Given the description of an element on the screen output the (x, y) to click on. 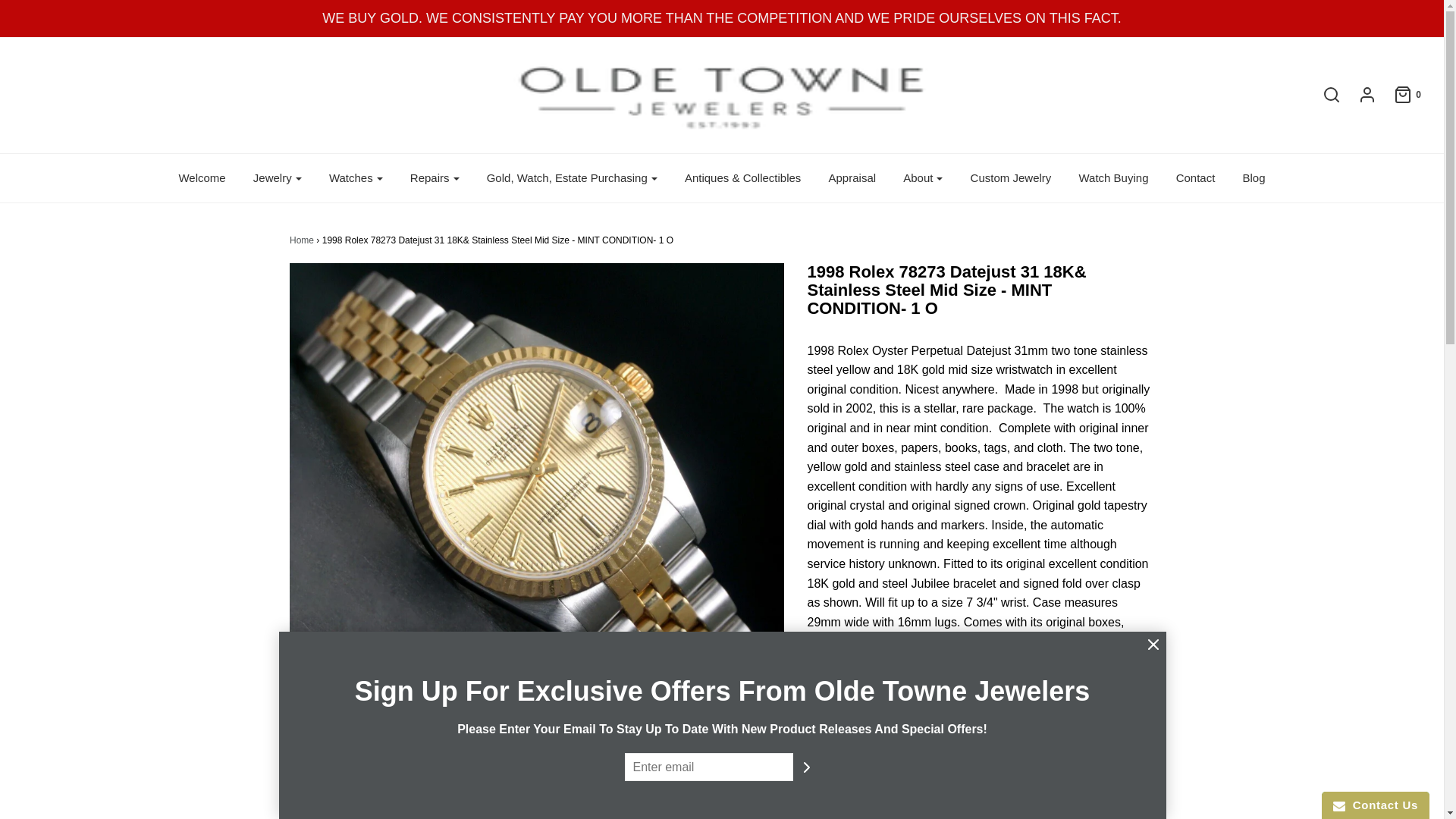
Log in (1358, 94)
Search (1101, 5)
Cart (1399, 94)
Search (1323, 94)
Back to the frontpage (301, 240)
